Given the description of an element on the screen output the (x, y) to click on. 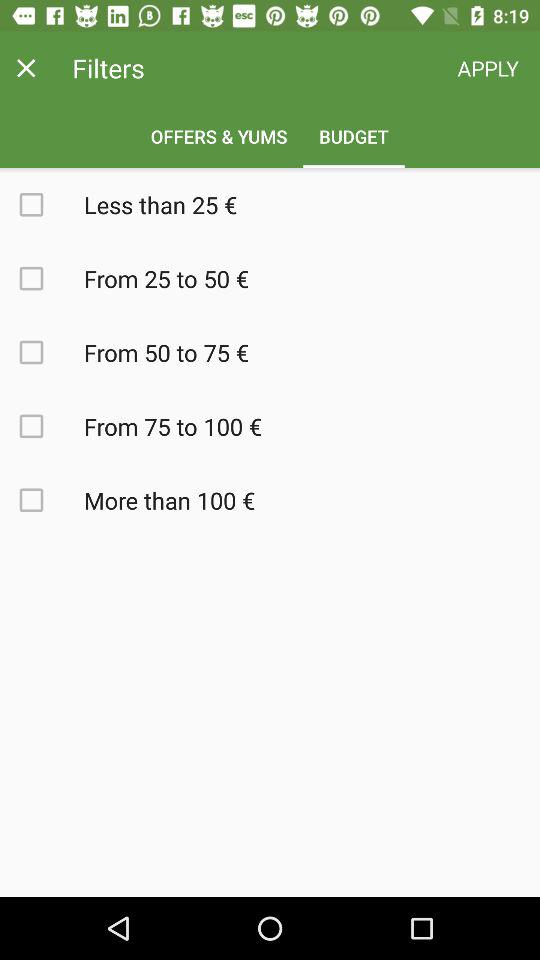
check from 50 to 75 (41, 352)
